Given the description of an element on the screen output the (x, y) to click on. 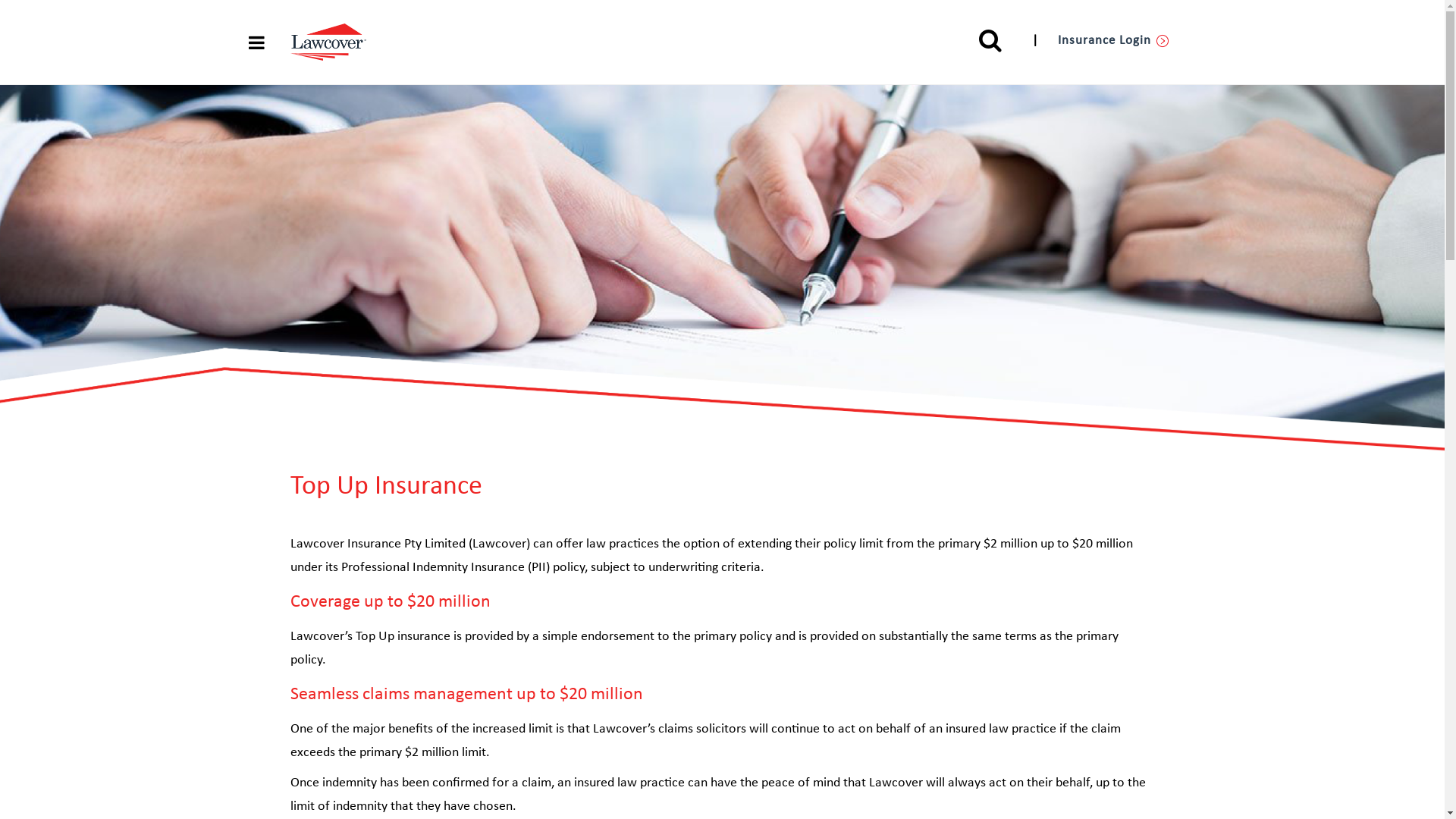
Insurance Login Element type: text (1113, 40)
Search Element type: text (989, 40)
